Given the description of an element on the screen output the (x, y) to click on. 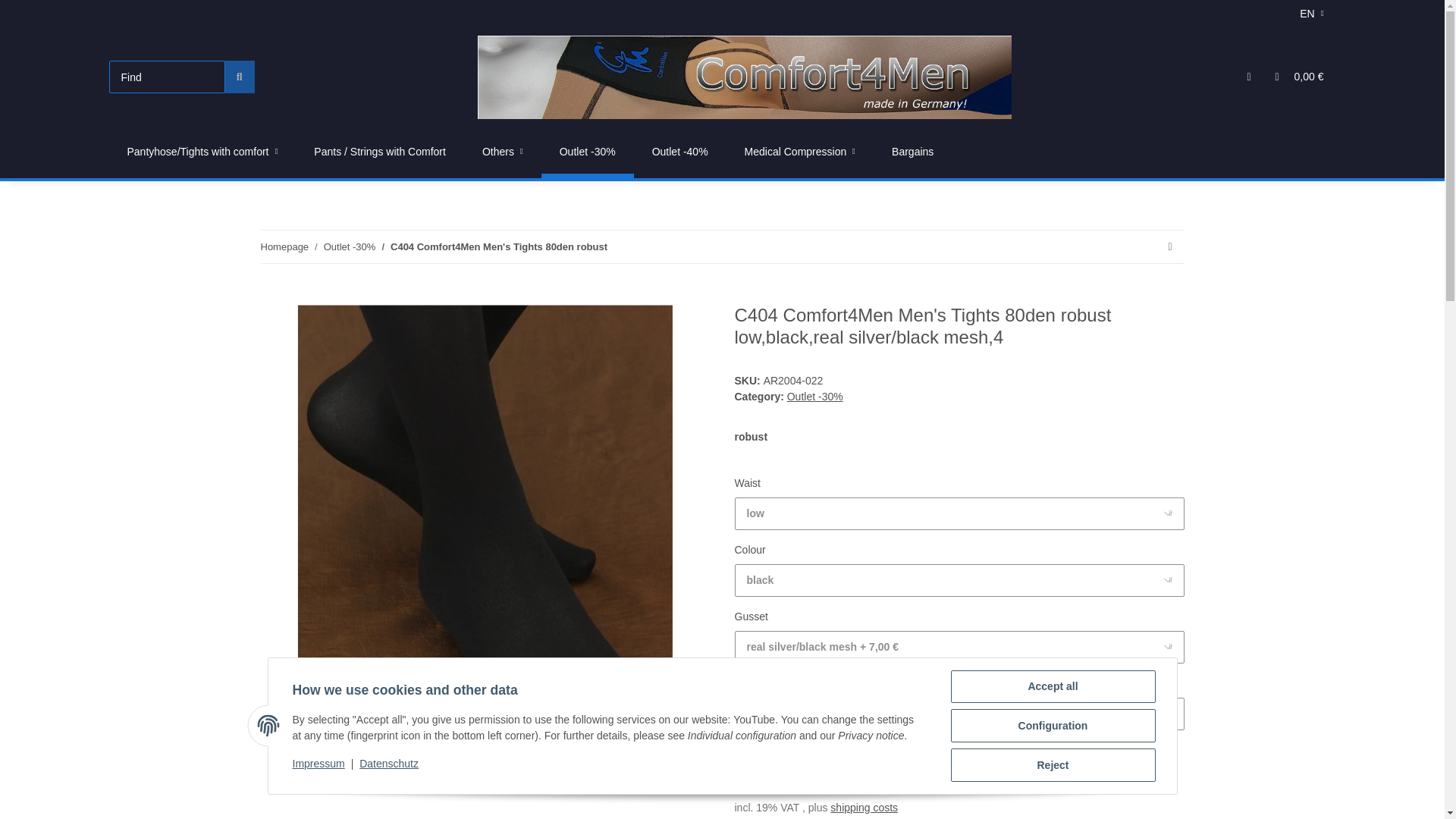
Medical Compression (799, 152)
C404 Comfort4Men Men's  Tights 80den robust (498, 246)
Medical Compression (799, 152)
Bargains (912, 152)
Homepage (284, 246)
Others (502, 152)
Others (502, 152)
Medical Compression (799, 152)
Bargains (912, 152)
EN (1311, 13)
Others (502, 152)
Comfort4Men (744, 76)
